Given the description of an element on the screen output the (x, y) to click on. 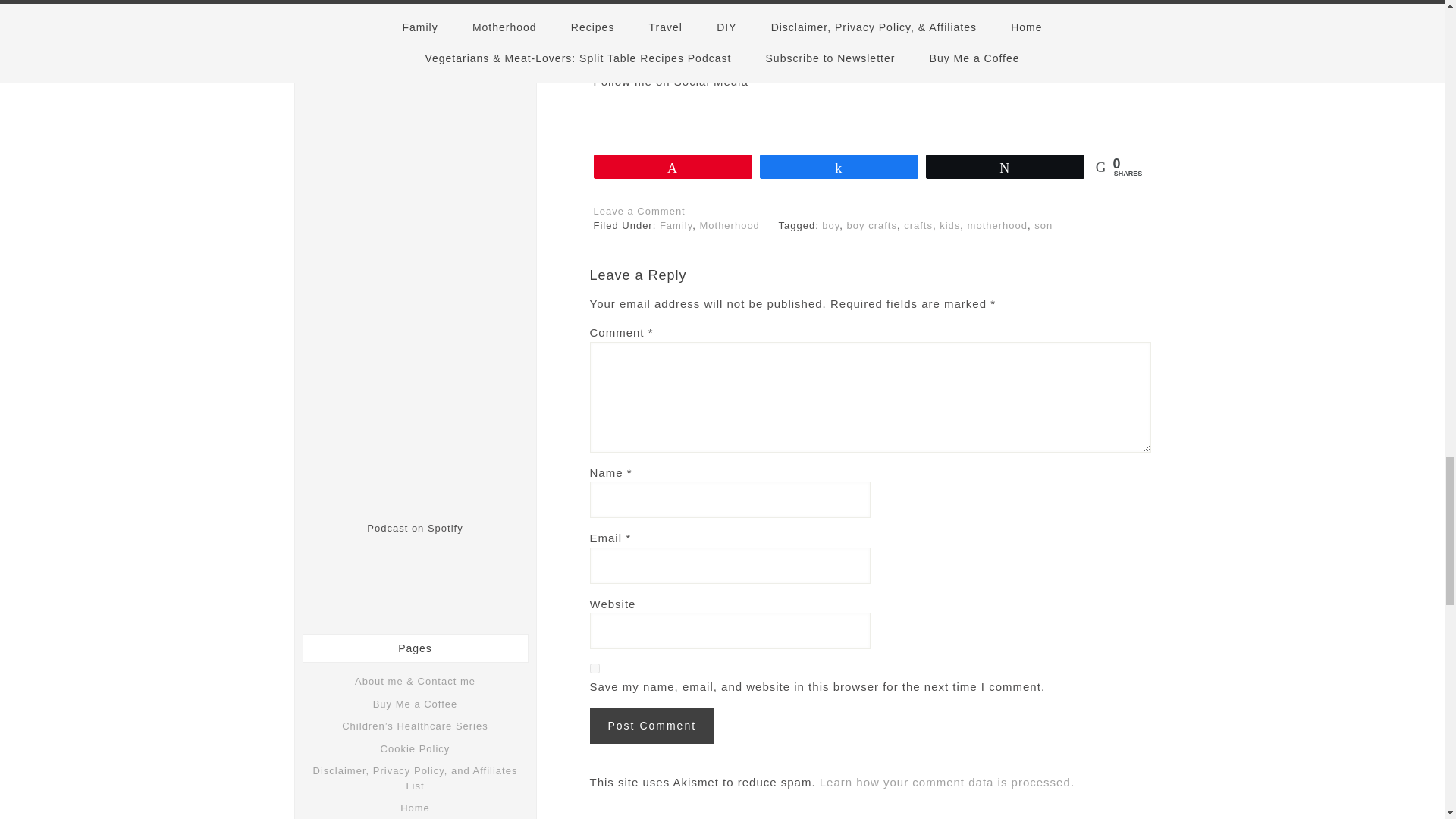
motherhood (997, 225)
crafts (918, 225)
Instagram (870, 114)
yes (594, 668)
kids (949, 225)
Motherhood (728, 225)
Post Comment (651, 725)
son (1042, 225)
boy crafts (871, 225)
Leave a Comment (638, 211)
Pinterest (919, 114)
boy (831, 225)
Family (676, 225)
Twitter (821, 114)
Post Comment (651, 725)
